Given the description of an element on the screen output the (x, y) to click on. 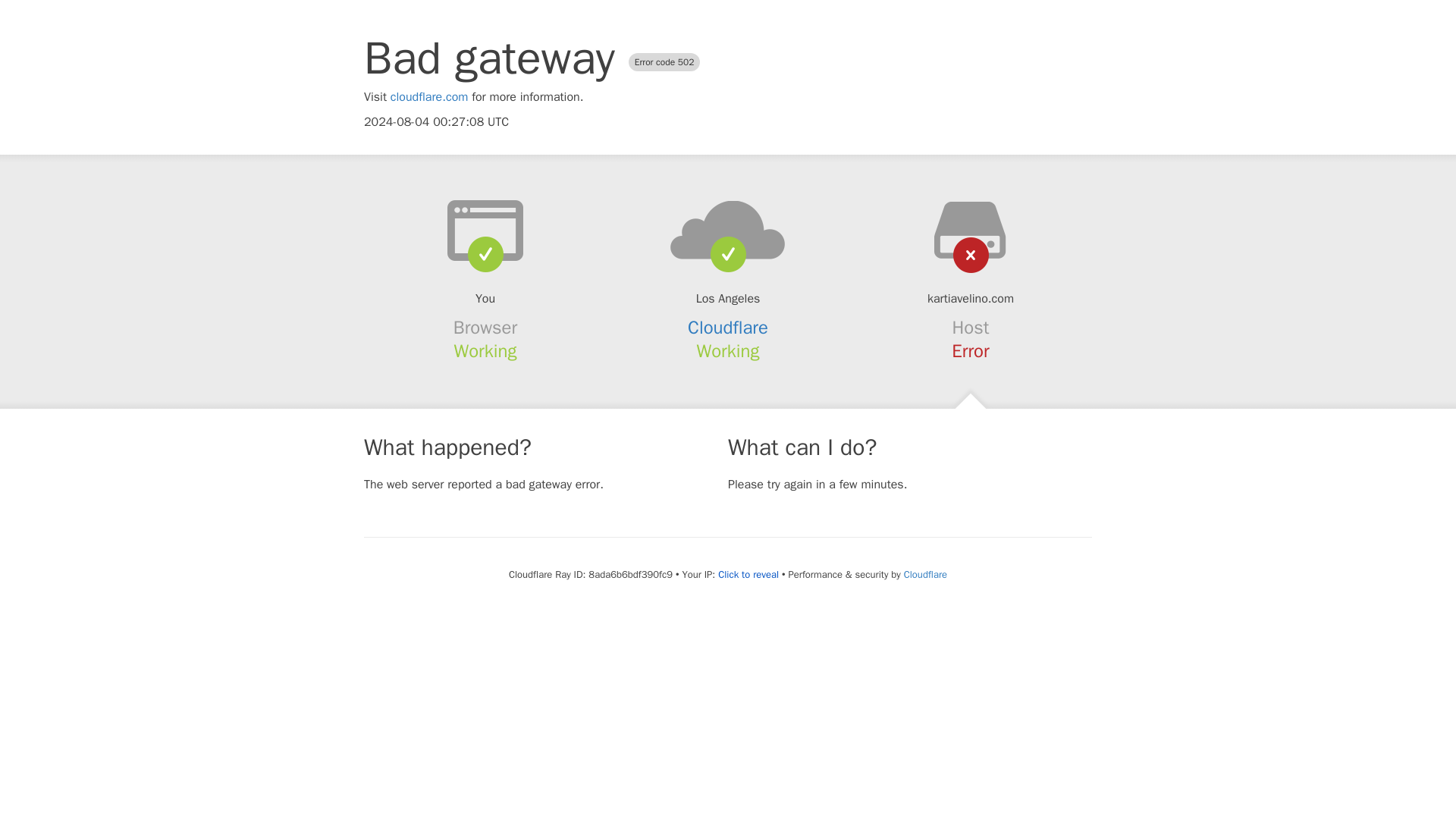
Click to reveal (747, 574)
cloudflare.com (429, 96)
Cloudflare (925, 574)
Cloudflare (727, 327)
